Given the description of an element on the screen output the (x, y) to click on. 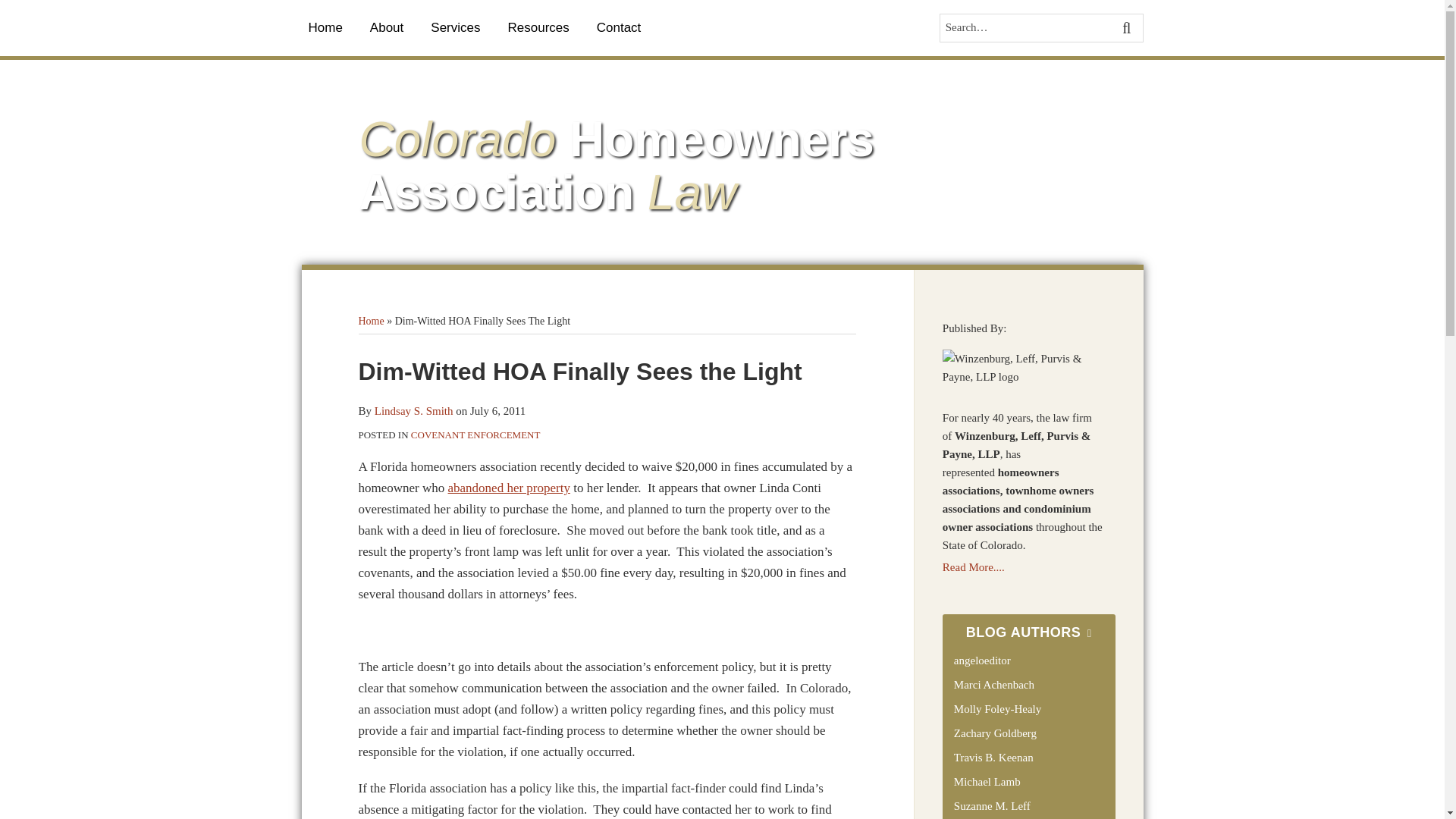
Lindsay S. Smith (413, 410)
Marci Achenbach (993, 684)
abandoned her property (509, 487)
COVENANT ENFORCEMENT (475, 434)
Resources (537, 27)
About (386, 27)
Travis B. Keenan (993, 757)
Home (324, 27)
Molly Foley-Healy (997, 708)
Suzanne M. Leff (991, 806)
